Given the description of an element on the screen output the (x, y) to click on. 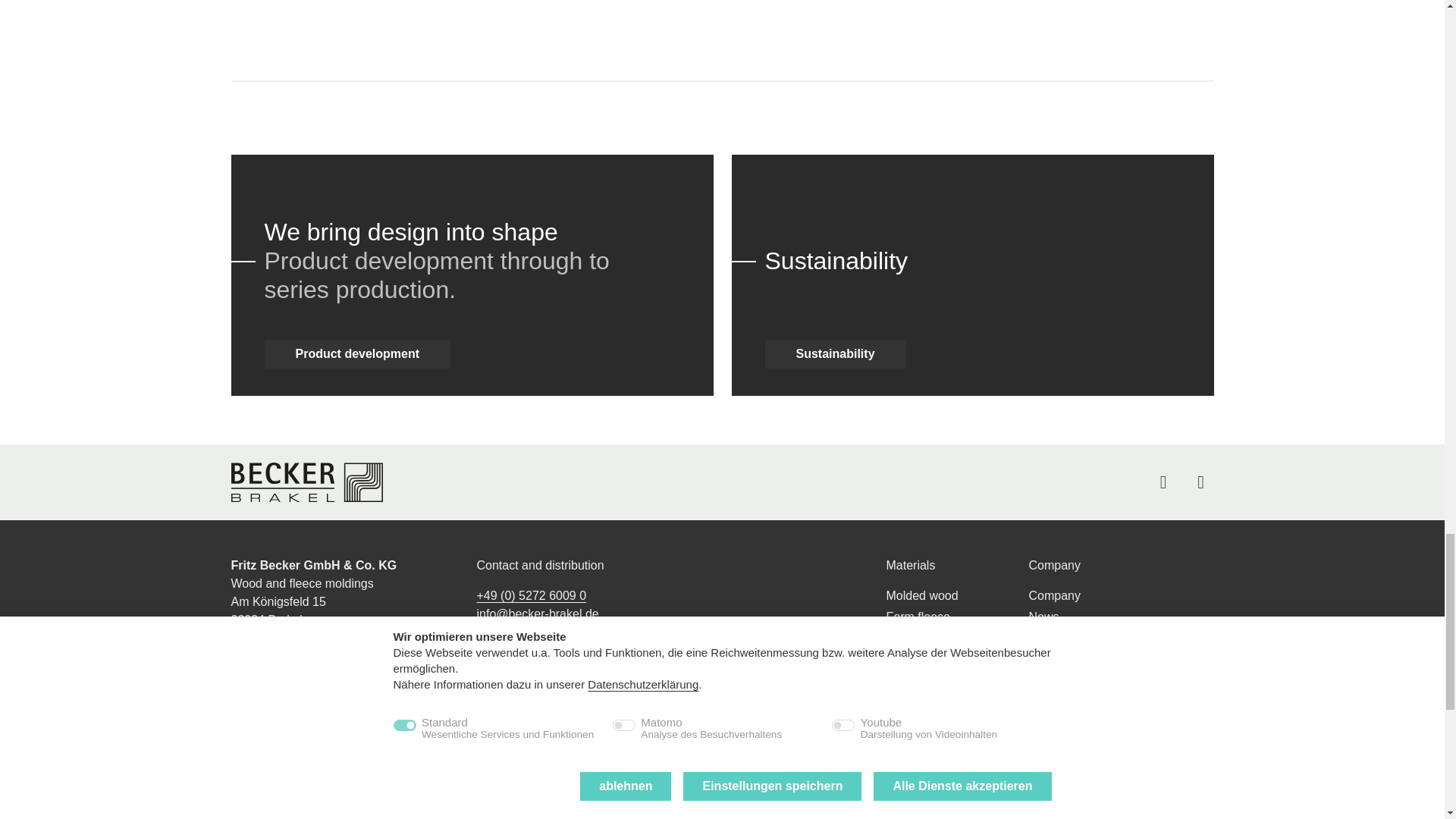
Materials (956, 565)
Materials (956, 565)
Molded wood (956, 596)
Product development (356, 353)
Company (1119, 596)
Molded wood (956, 596)
We bring design into shape (410, 231)
Designer (1119, 638)
Sustainability (834, 353)
Solid wood (956, 638)
Product development (1119, 701)
Students (1119, 659)
Company (1119, 565)
News (1119, 617)
Form fleece (956, 617)
